Given the description of an element on the screen output the (x, y) to click on. 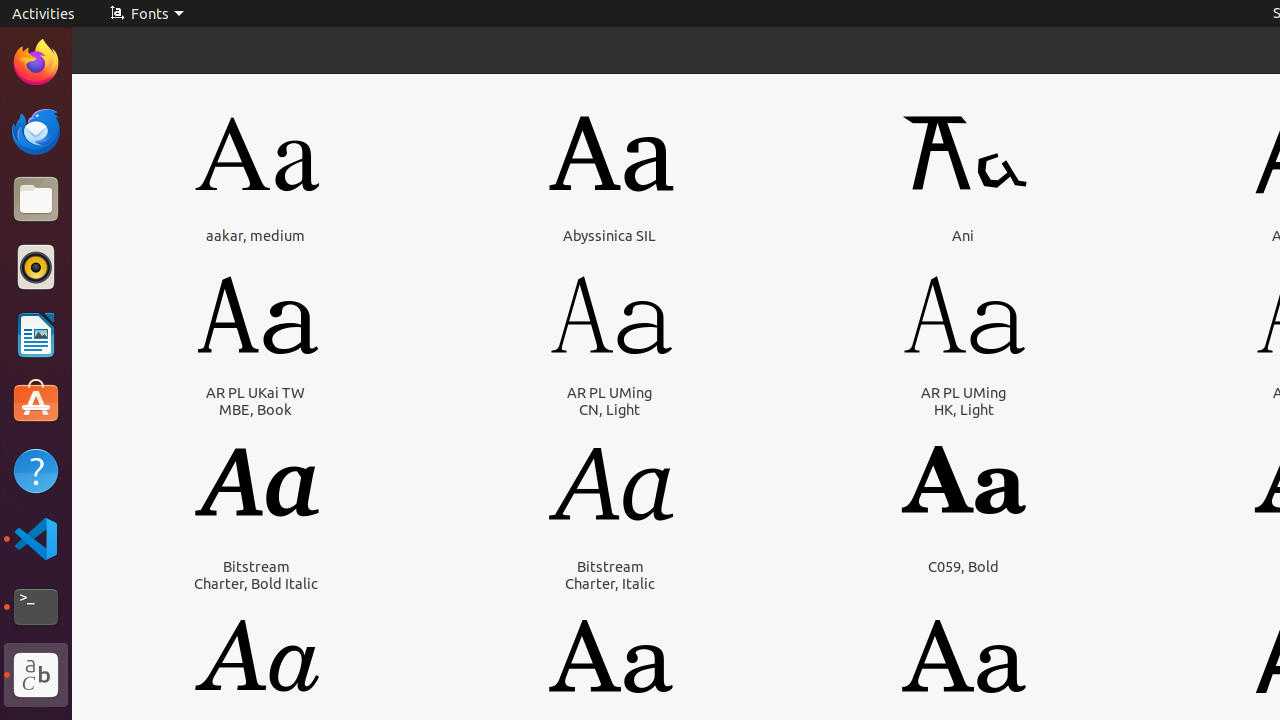
Activities Element type: label (43, 13)
AR PL UKai TW MBE, Book Element type: label (255, 401)
Fonts Element type: push-button (36, 675)
Abyssinica SIL Element type: label (609, 235)
AR PL UMing CN, Light Element type: label (610, 401)
